Given the description of an element on the screen output the (x, y) to click on. 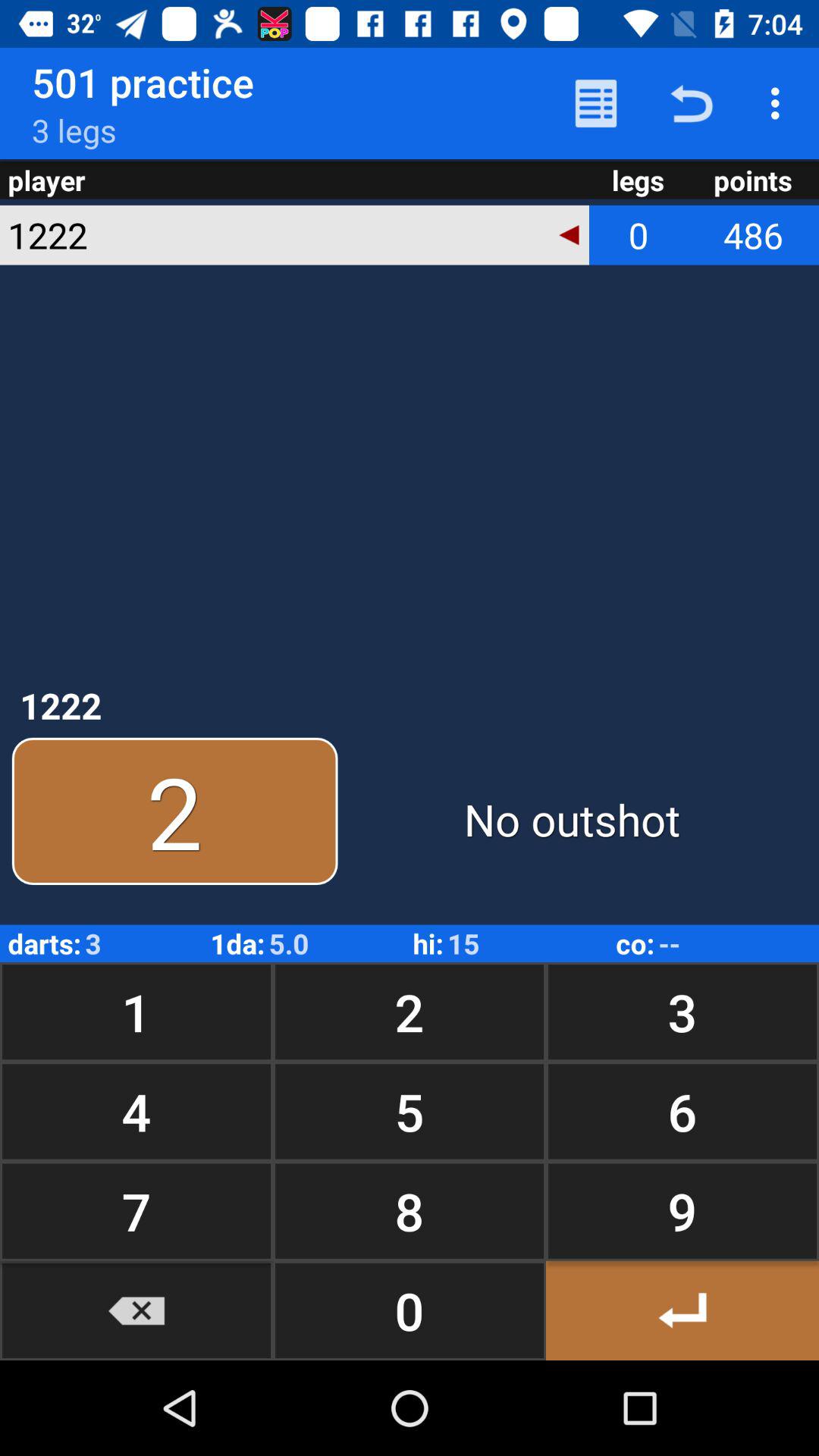
cancel (136, 1310)
